Given the description of an element on the screen output the (x, y) to click on. 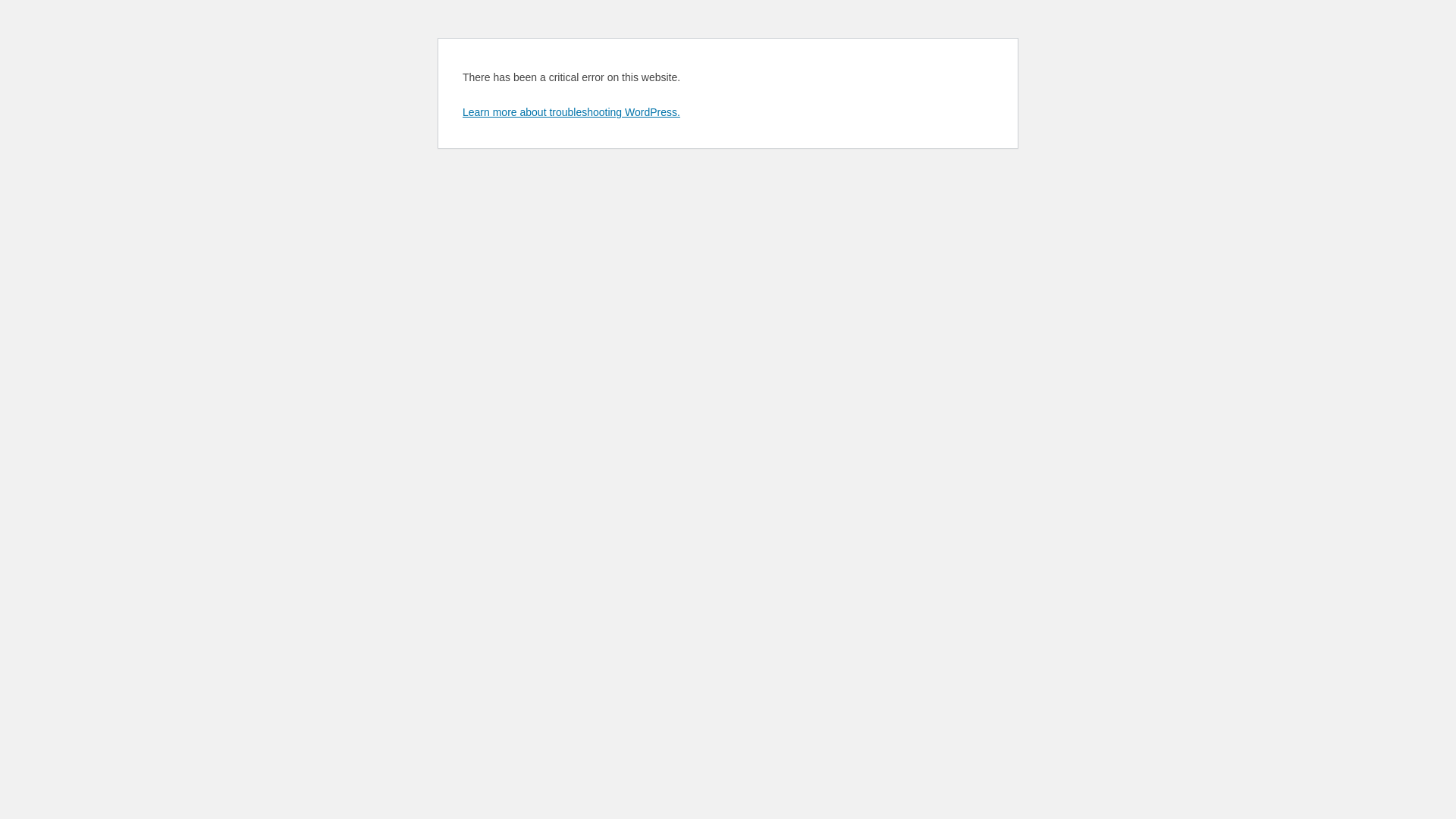
Learn more about troubleshooting WordPress. Element type: text (571, 112)
